Given the description of an element on the screen output the (x, y) to click on. 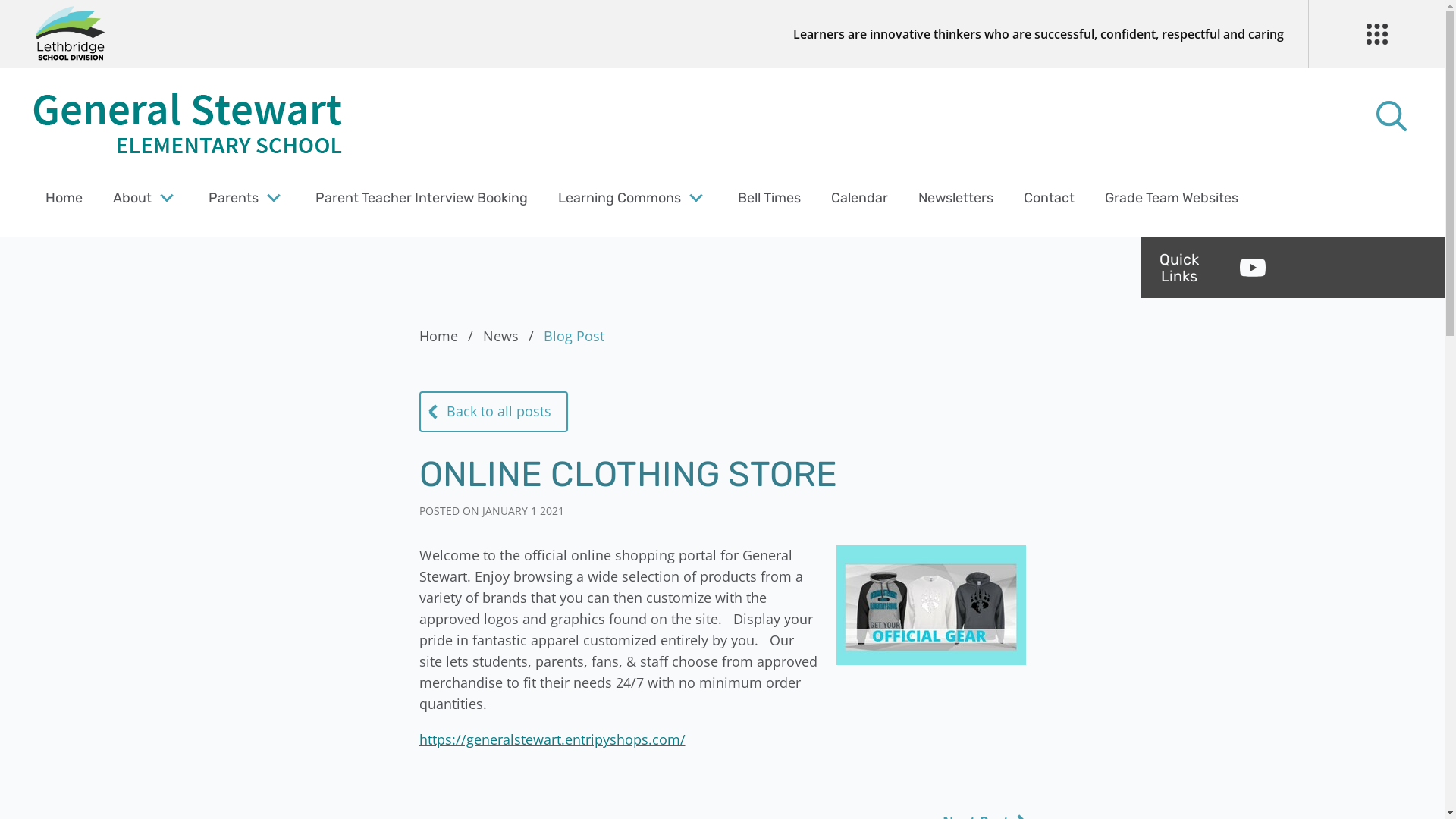
https://generalstewart.entripyshops.com/ Element type: text (551, 739)
News Element type: text (510, 335)
Quick Links Element type: text (1179, 267)
Home Element type: text (448, 335)
Bell Times Element type: text (768, 197)
Parents Element type: text (233, 197)
Search Element type: text (45, 19)
Back to all posts Element type: text (492, 411)
General Stewart Elementary School's YouTube Element type: hover (1252, 267)
Newsletters Element type: text (955, 197)
home Element type: hover (189, 125)
Learning Commons Element type: text (619, 197)
Grade Team Websites Element type: text (1171, 197)
Contact Element type: text (1048, 197)
About Element type: text (131, 197)
Home Element type: text (63, 197)
Calendar Element type: text (859, 197)
Parent Teacher Interview Booking Element type: text (421, 197)
